Given the description of an element on the screen output the (x, y) to click on. 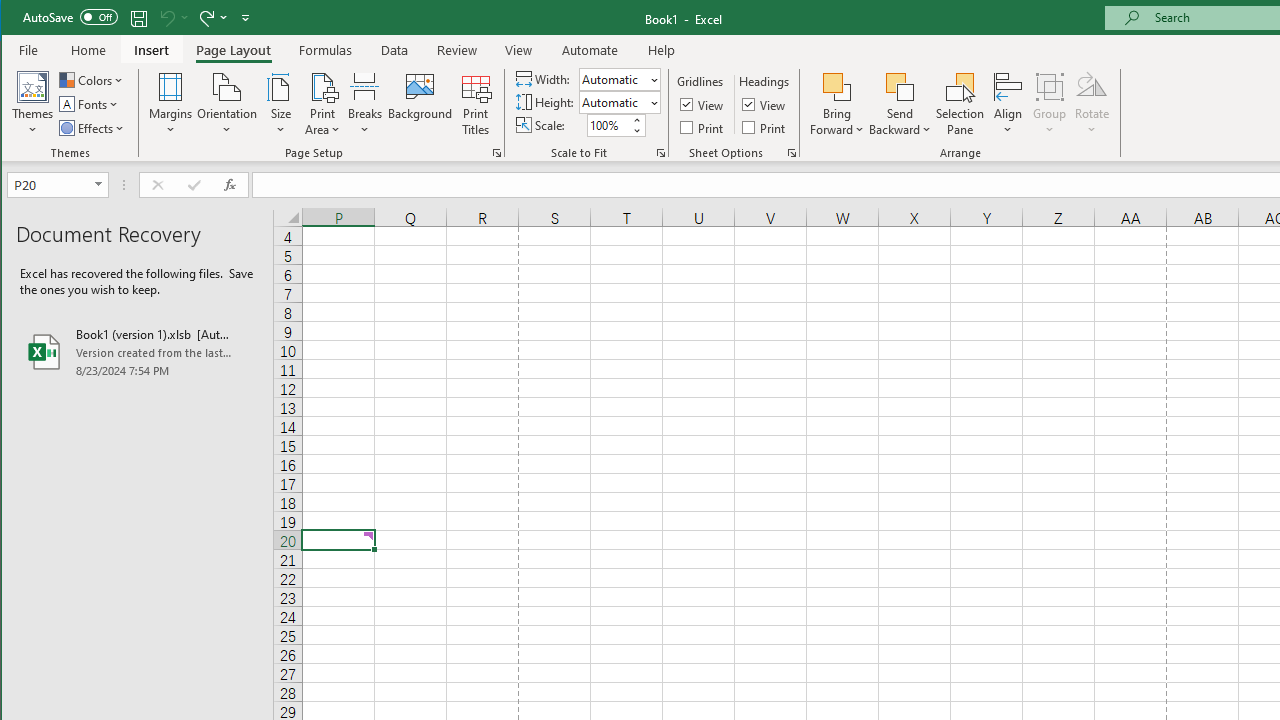
Effects (93, 127)
Sheet Options (791, 152)
Width (619, 78)
Group (1050, 104)
Fonts (90, 103)
Background... (420, 104)
Height (612, 102)
